Given the description of an element on the screen output the (x, y) to click on. 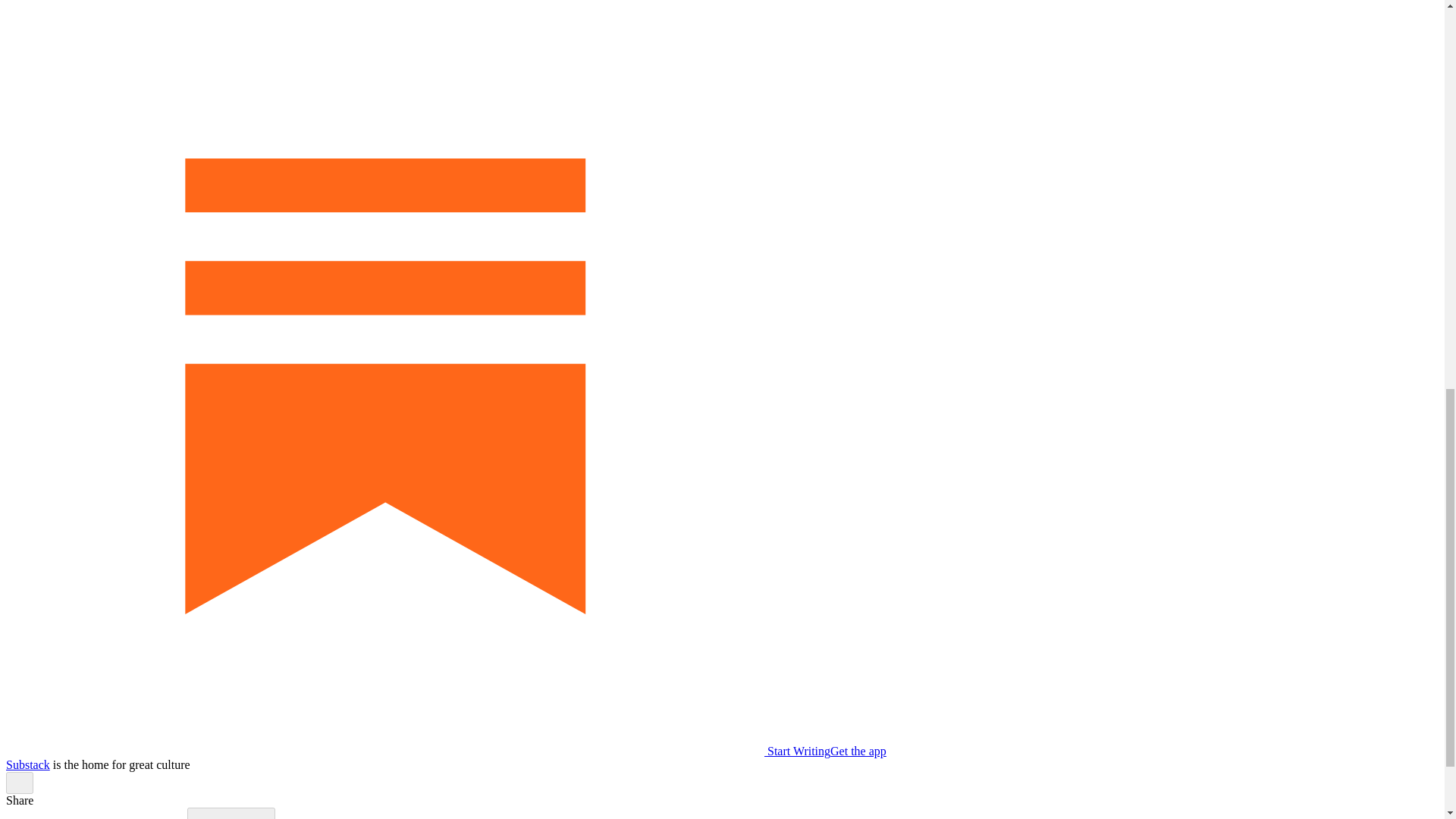
Start Writing (417, 750)
Substack (27, 764)
Get the app (857, 750)
